Given the description of an element on the screen output the (x, y) to click on. 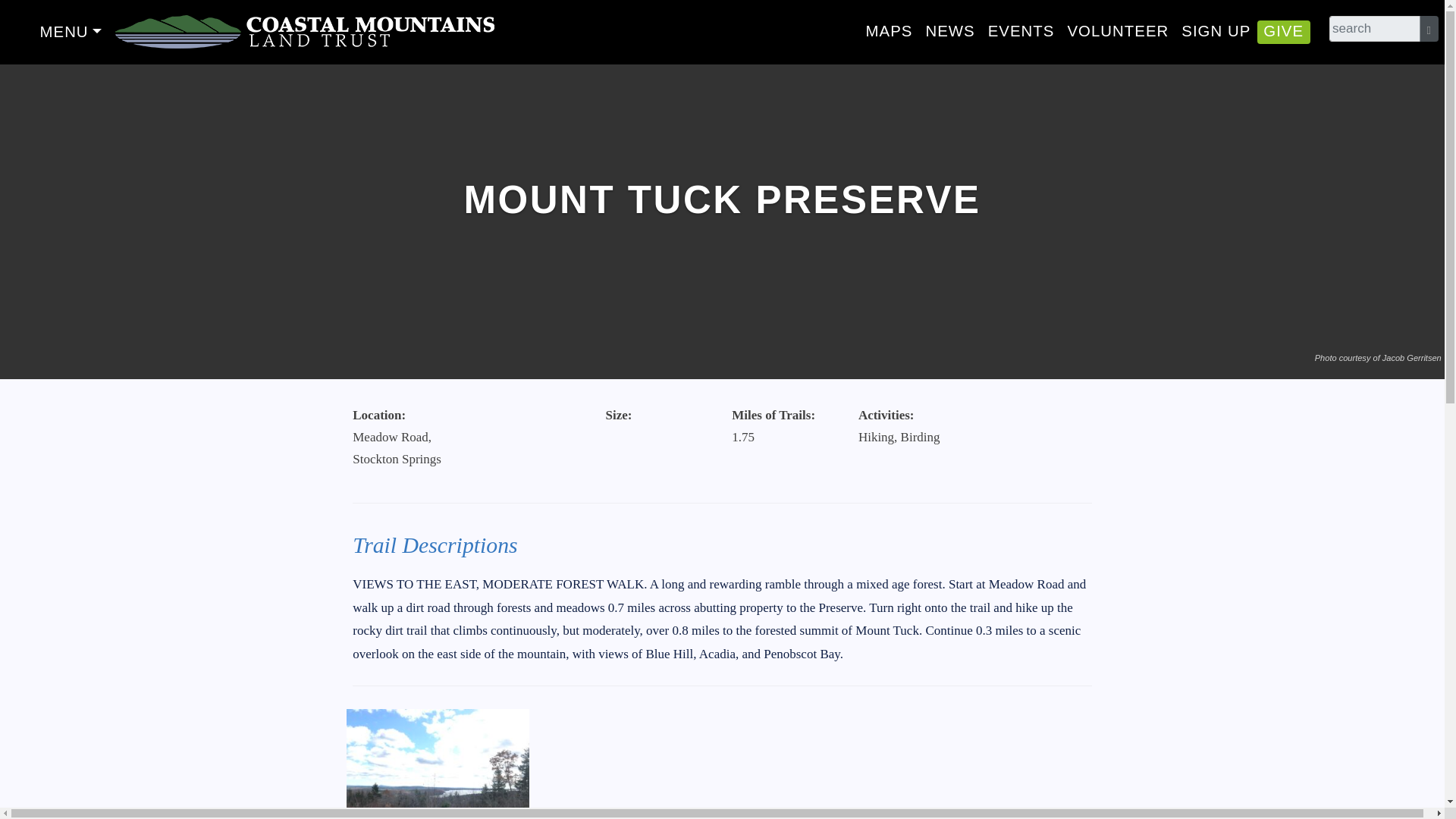
SIGN UP (1215, 30)
GIVE (1283, 30)
NEWS (949, 30)
EVENTS (1021, 30)
VOLUNTEER (1117, 30)
MENU (69, 31)
MAPS (888, 30)
